Given the description of an element on the screen output the (x, y) to click on. 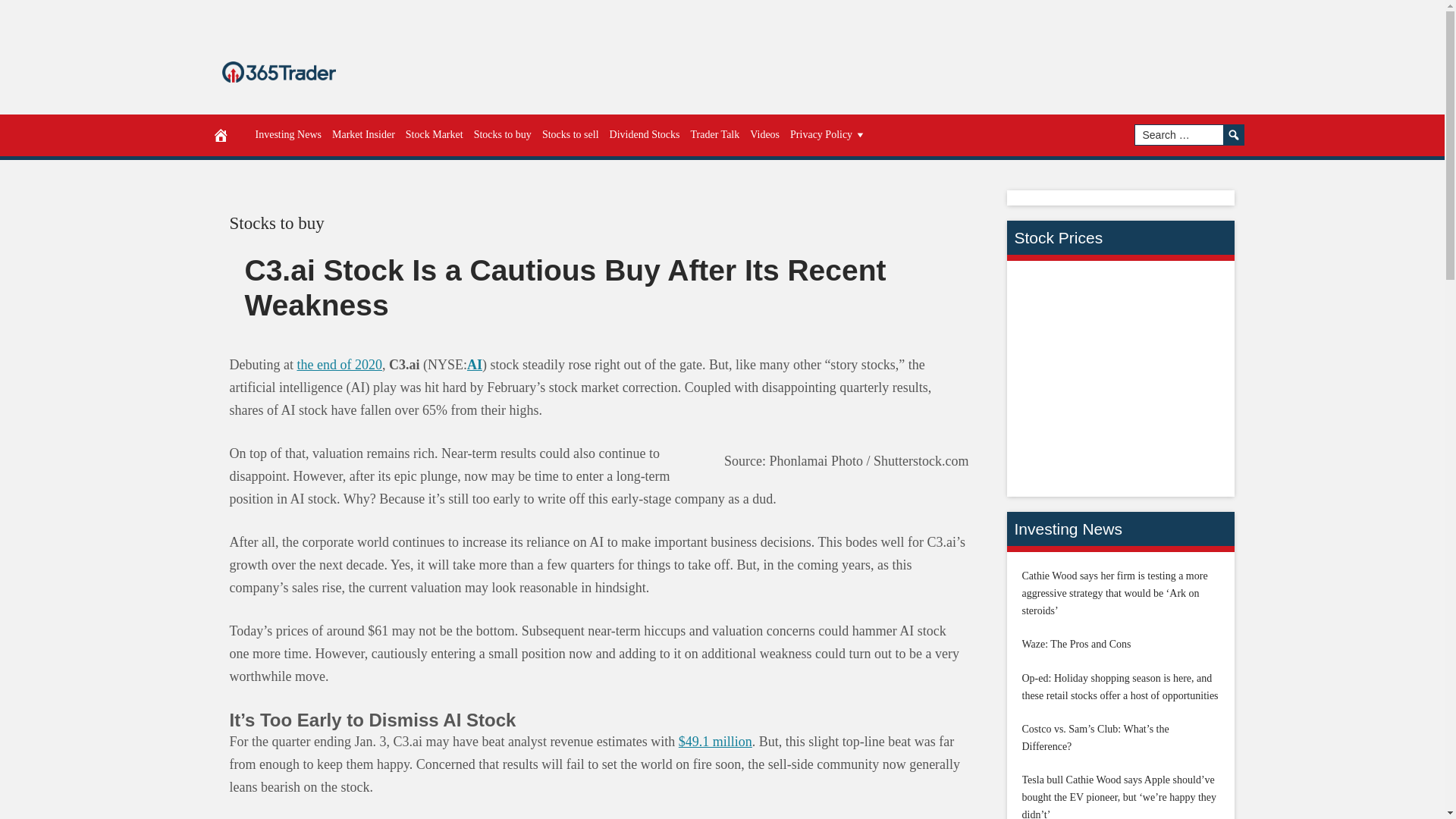
Trader Talk (715, 135)
Investing News (288, 135)
Market Insider (363, 135)
the end of 2020 (339, 364)
Dividend Stocks (644, 135)
Stocks to buy (275, 222)
Stocks to buy (502, 135)
Stocks to buy (275, 222)
Privacy Policy (828, 135)
AI (474, 364)
Stocks to sell (570, 135)
Videos (764, 135)
Stock Market (434, 135)
